Given the description of an element on the screen output the (x, y) to click on. 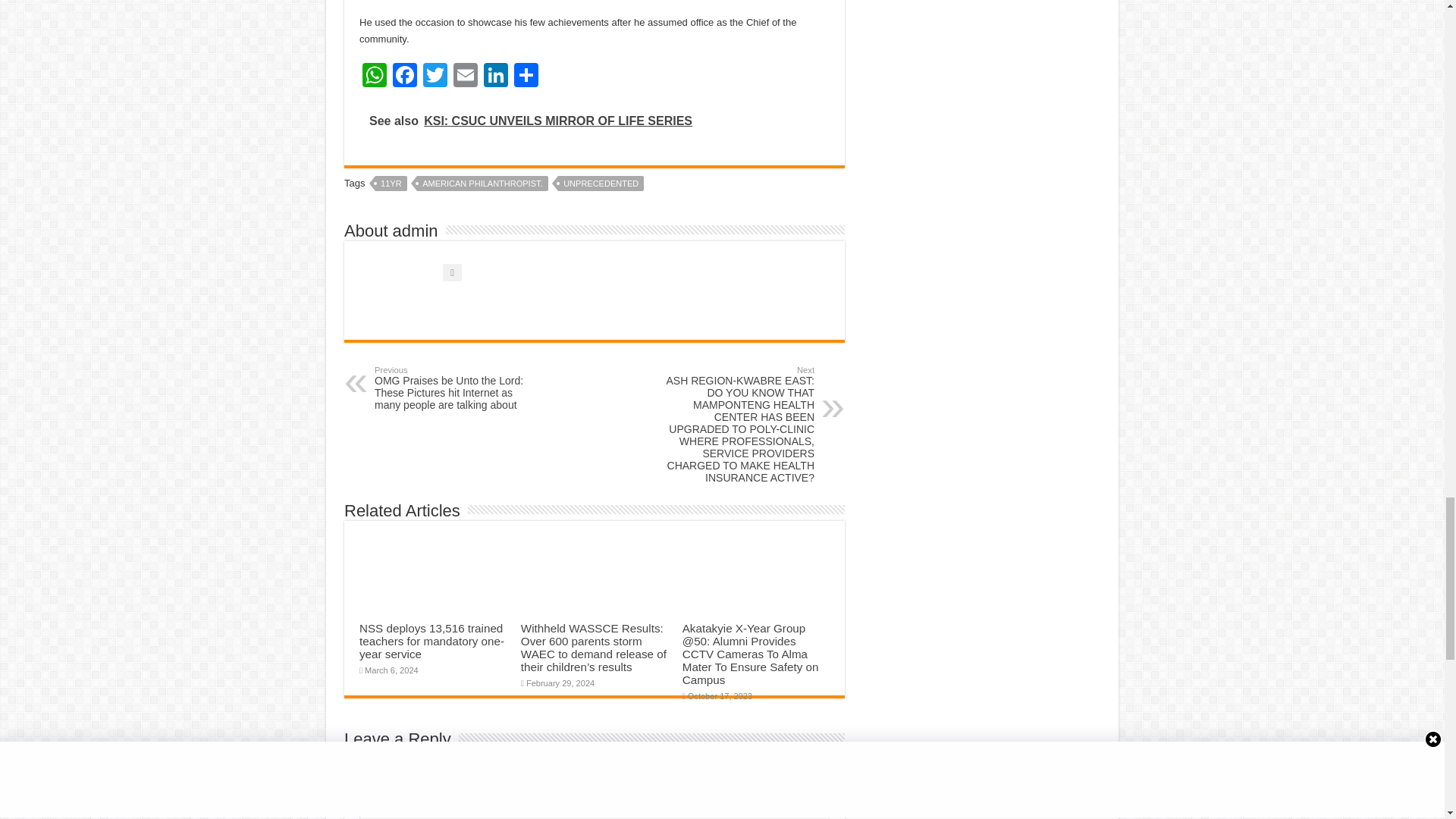
Twitter (434, 76)
Facebook (405, 76)
WhatsApp (374, 76)
